Given the description of an element on the screen output the (x, y) to click on. 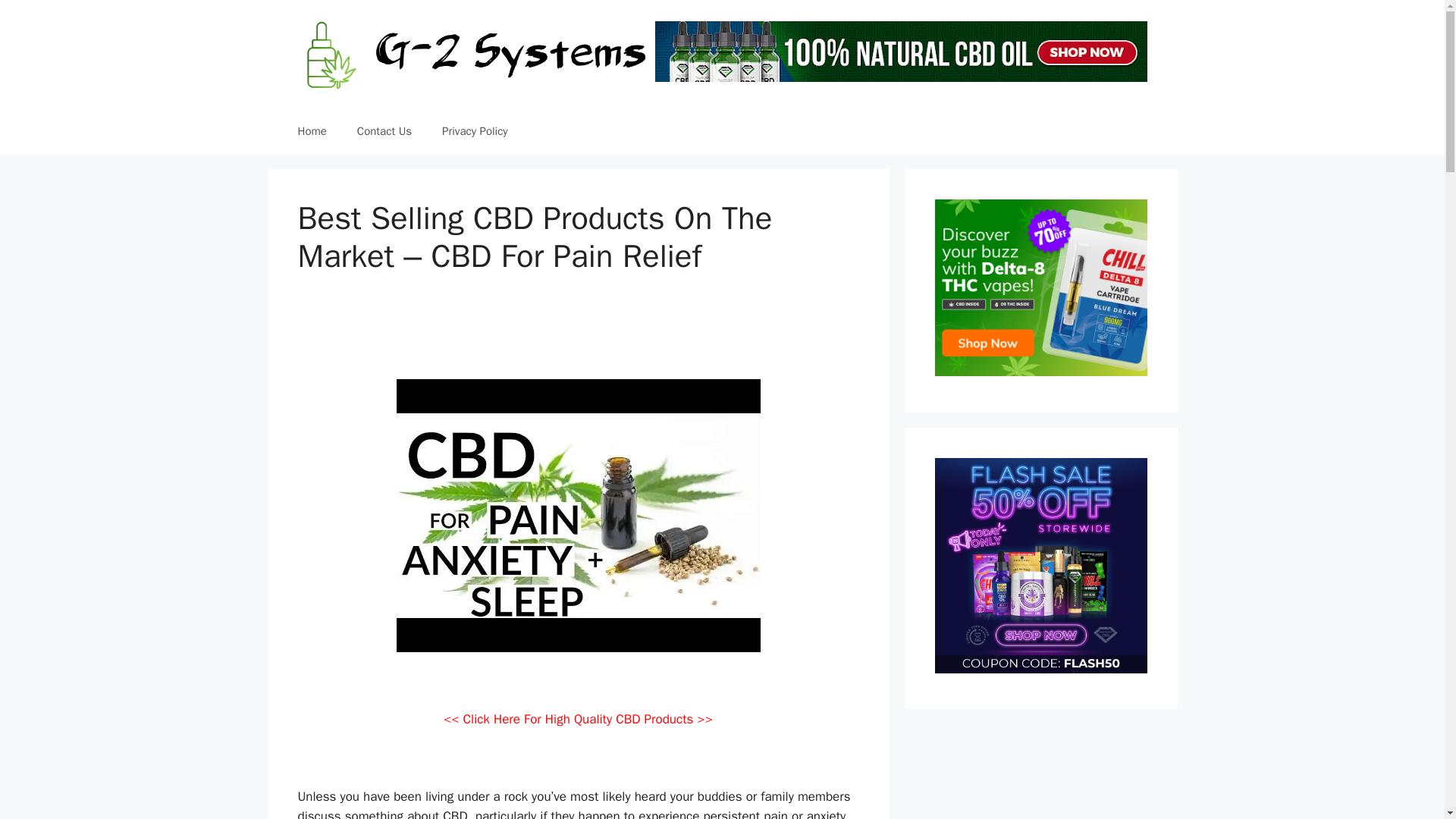
G-2 Systems (476, 53)
Home (311, 130)
Contact Us (384, 130)
Privacy Policy (474, 130)
G-2 Systems (476, 54)
